Given the description of an element on the screen output the (x, y) to click on. 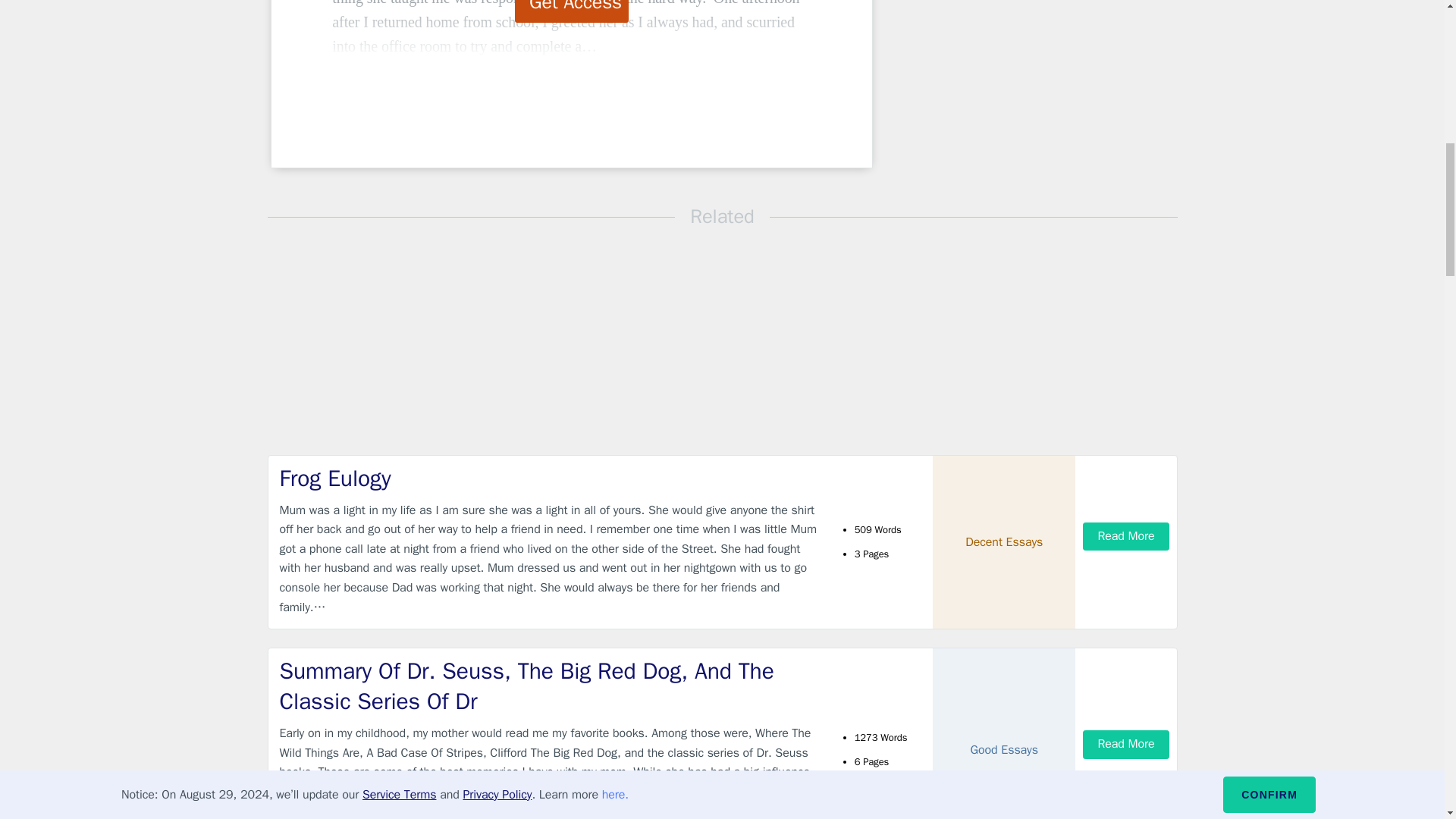
Get Access (571, 11)
Frog Eulogy (548, 478)
Read More (1126, 536)
Read More (1126, 744)
